Given the description of an element on the screen output the (x, y) to click on. 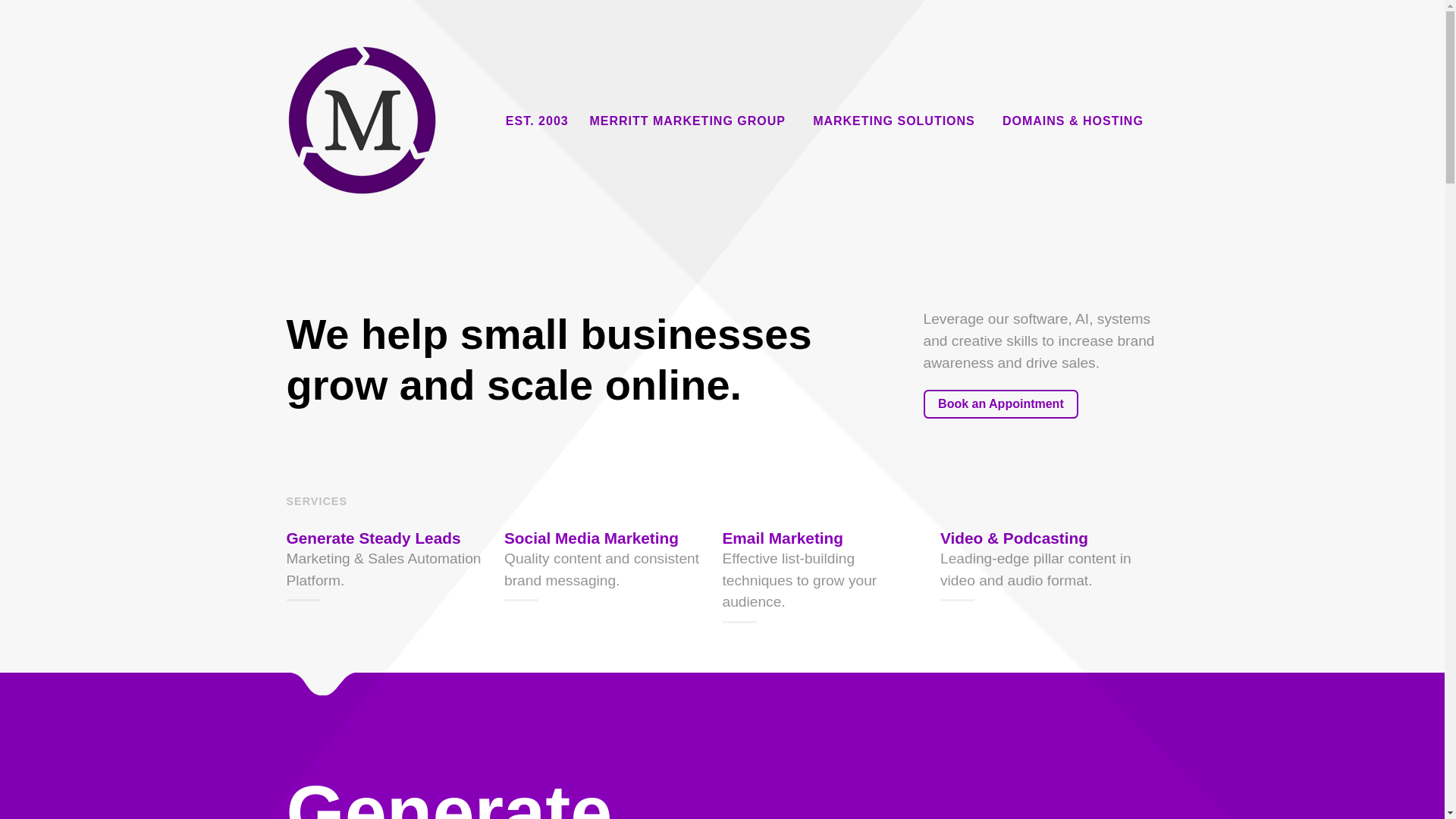
Book an Appointment (1000, 403)
EST. 2003 (537, 120)
Merritt Marketing Group (367, 118)
MERRITT MARKETING GROUP (690, 120)
MARKETING SOLUTIONS (896, 120)
